Given the description of an element on the screen output the (x, y) to click on. 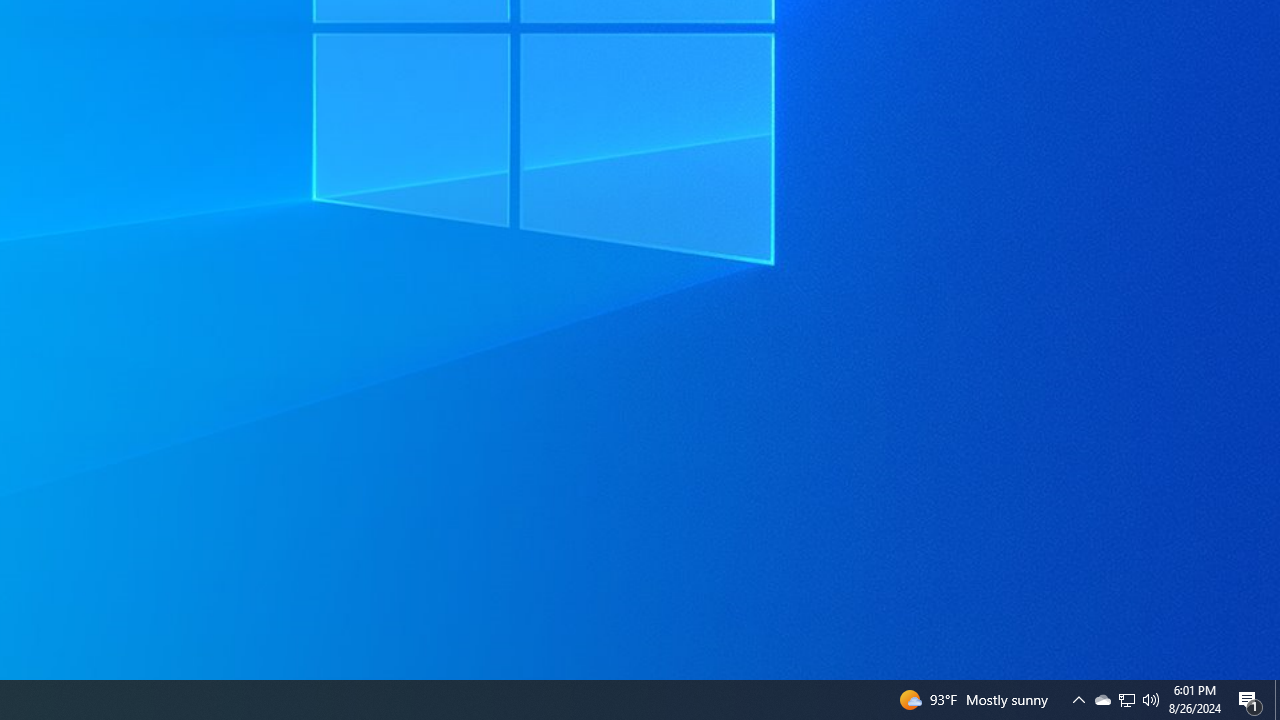
Q2790: 100% (1151, 699)
User Promoted Notification Area (1126, 699)
Notification Chevron (1078, 699)
Action Center, 1 new notification (1250, 699)
Show desktop (1277, 699)
